Given the description of an element on the screen output the (x, y) to click on. 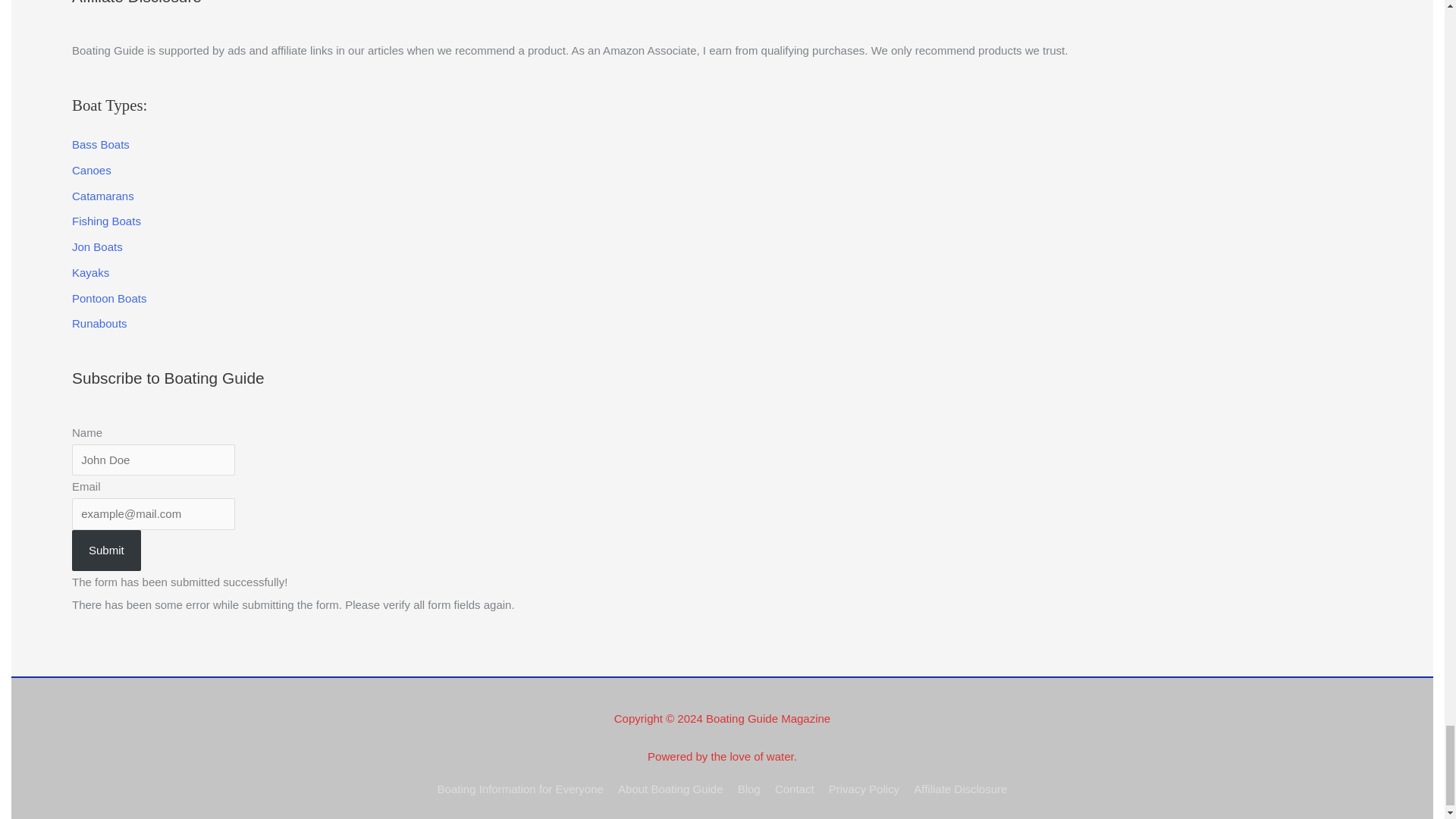
Bass Boats (100, 144)
Canoes (91, 169)
